Given the description of an element on the screen output the (x, y) to click on. 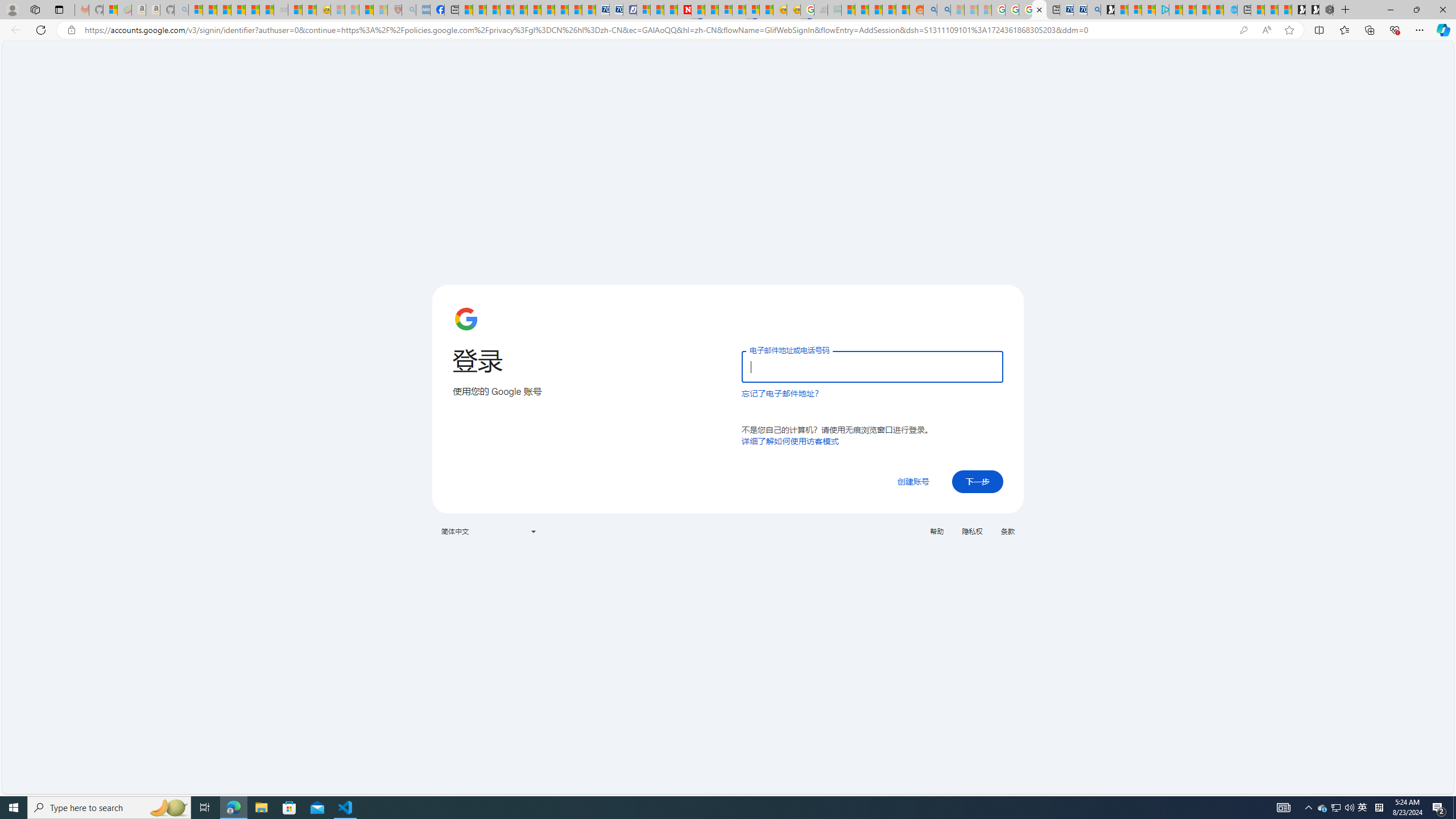
Class: VfPpkd-t08AT-Bz112c-Bd00G (532, 531)
Bing Real Estate - Home sales and rental listings (1093, 9)
